Given the description of an element on the screen output the (x, y) to click on. 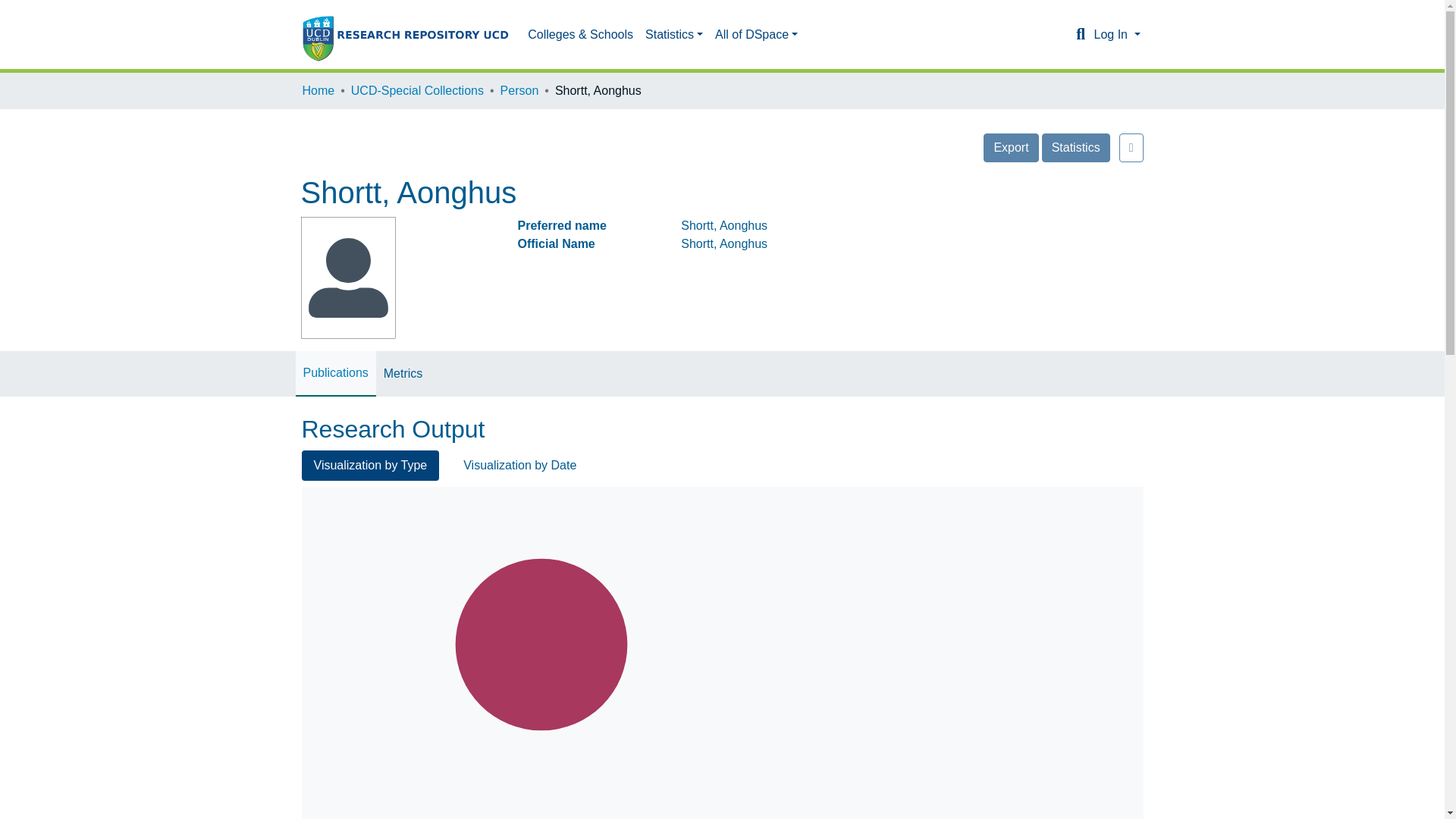
Publications (335, 372)
UCD-Special Collections (416, 90)
Log In (1116, 33)
Search (1080, 34)
Statistics (1075, 147)
All of DSpace (756, 34)
Metrics (402, 373)
Statistics (674, 34)
Publications (335, 372)
Visualization by Type (370, 465)
Visualization by Date (519, 465)
Export (1011, 147)
Metrics (402, 373)
Person (519, 90)
Home (317, 90)
